Given the description of an element on the screen output the (x, y) to click on. 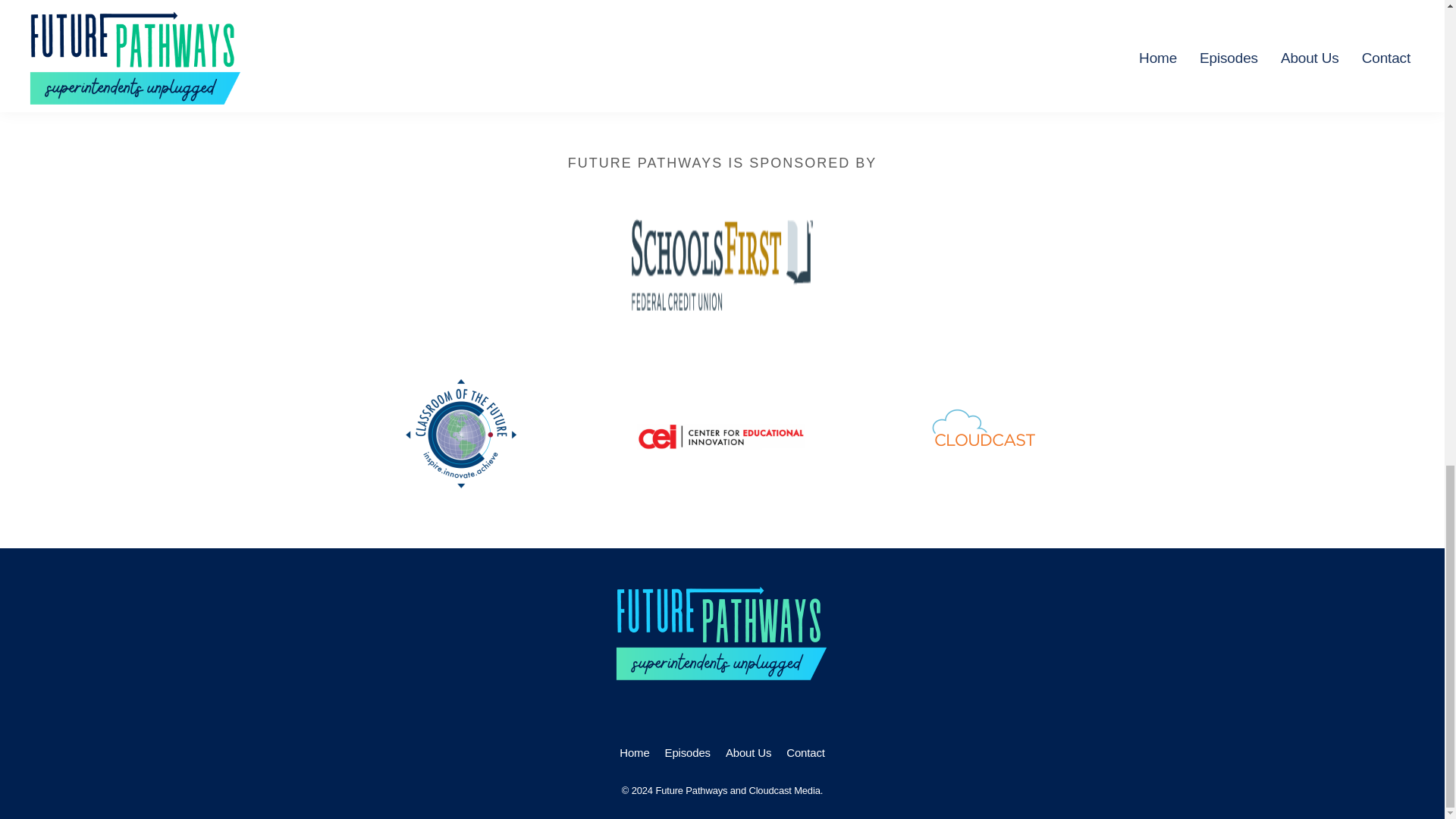
Contact (805, 753)
Next Episode (1010, 50)
Episodes (687, 753)
Home (634, 753)
About Us (748, 753)
